Given the description of an element on the screen output the (x, y) to click on. 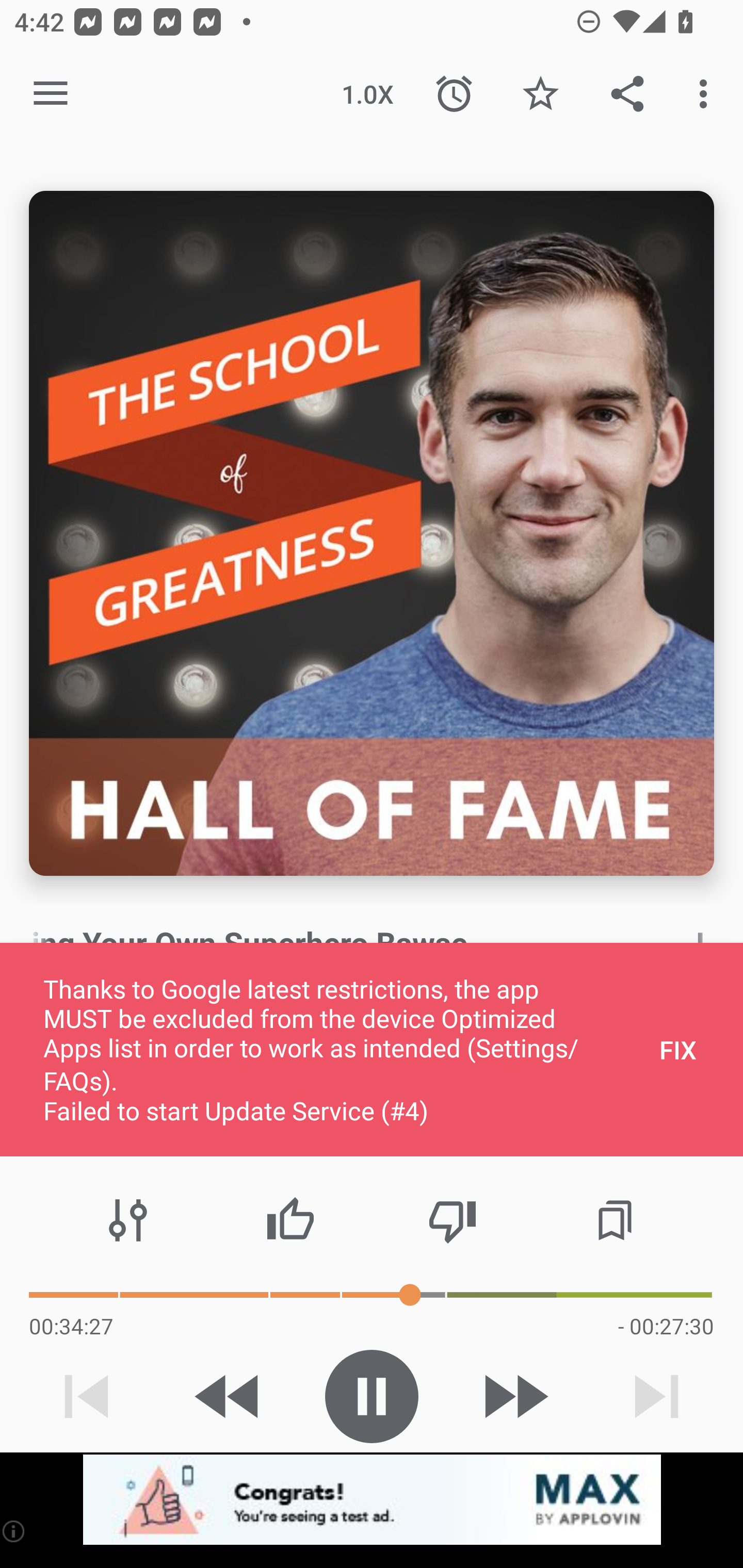
Open navigation sidebar (50, 93)
1.0X (366, 93)
Sleep Timer (453, 93)
Favorite (540, 93)
Share (626, 93)
More options (706, 93)
Episode description (371, 533)
FIX (677, 1049)
Audio effects (127, 1220)
Thumbs up (290, 1220)
Thumbs down (452, 1220)
Chapters / Bookmarks (614, 1220)
- 00:27:30 (666, 1325)
Previous track (86, 1395)
Skip 15s backward (228, 1395)
Play / Pause (371, 1395)
Skip 30s forward (513, 1395)
Next track (656, 1395)
app-monetization (371, 1500)
(i) (14, 1531)
